Given the description of an element on the screen output the (x, y) to click on. 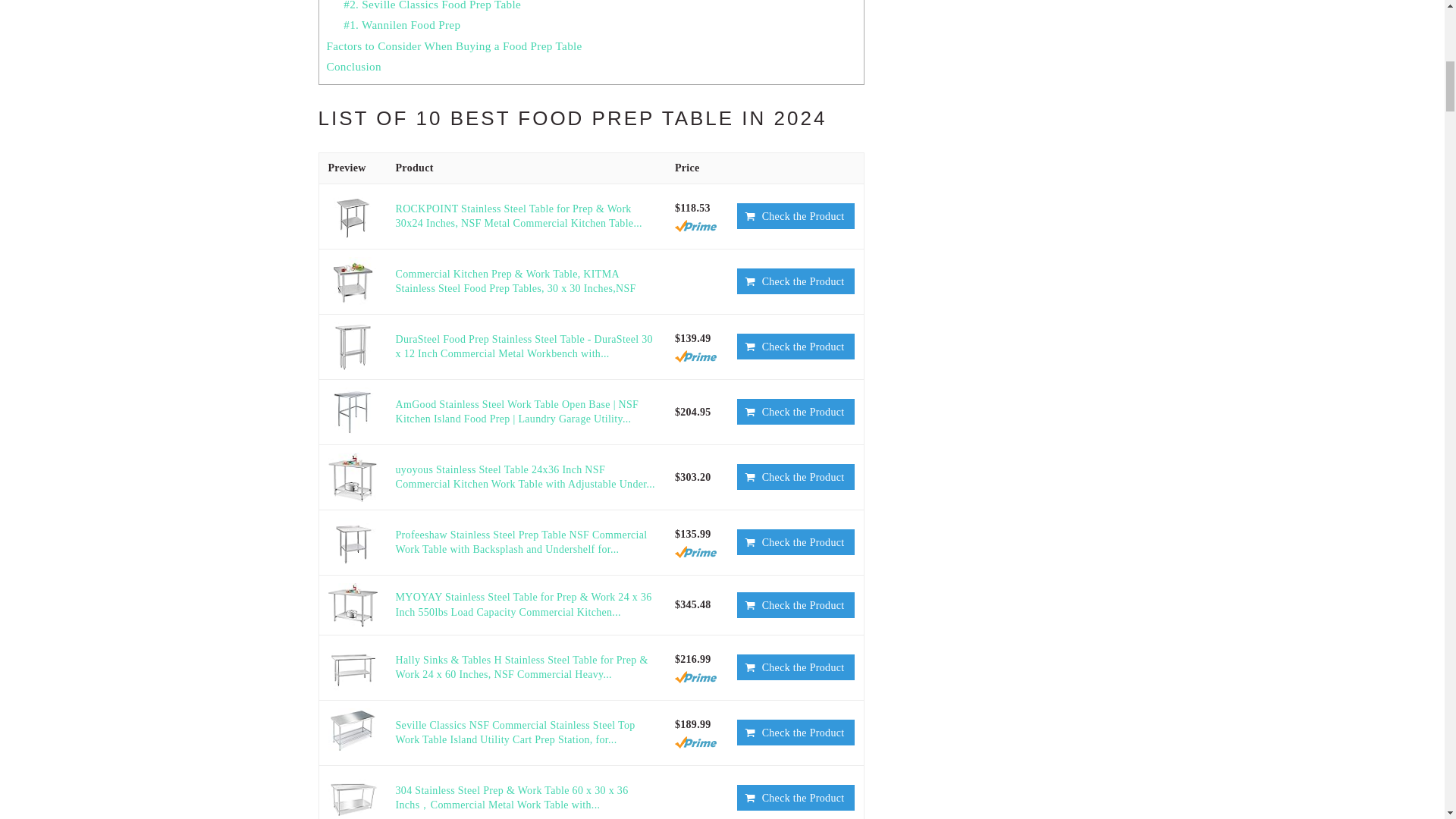
Check the Product (795, 411)
Amazon Prime (695, 356)
Check the Product (795, 216)
Conclusion (353, 65)
Factors to Consider When Buying a Food Prep Table (453, 45)
Amazon Prime (695, 225)
Check the Product (795, 281)
Check the Product (795, 346)
